Given the description of an element on the screen output the (x, y) to click on. 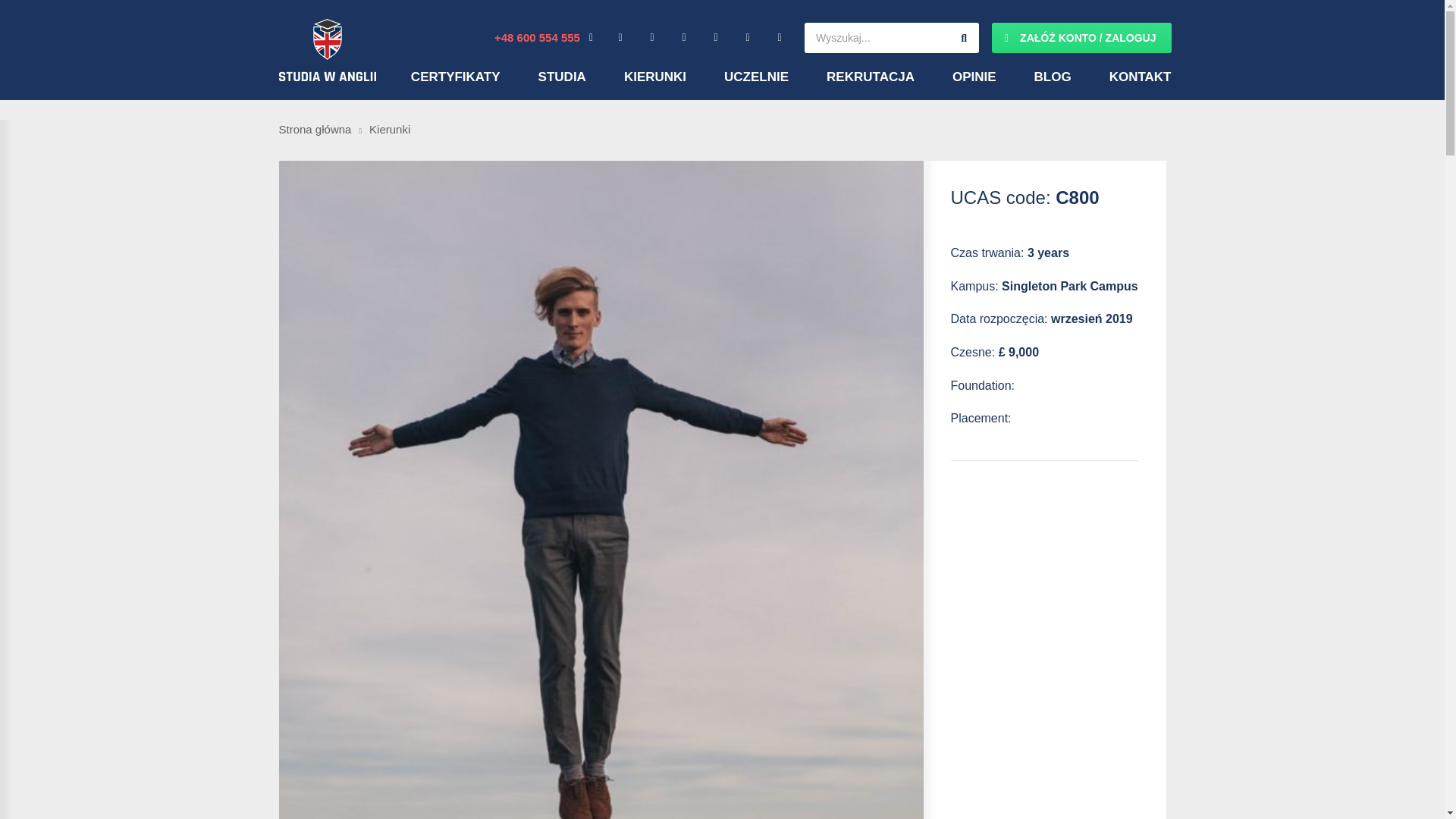
OPINIE (973, 76)
Kierunki (389, 128)
KONTAKT (1140, 76)
KIERUNKI (654, 76)
CERTYFIKATY (455, 76)
REKRUTACJA (870, 76)
STUDIA (562, 76)
UCZELNIE (756, 76)
BLOG (1052, 76)
